Given the description of an element on the screen output the (x, y) to click on. 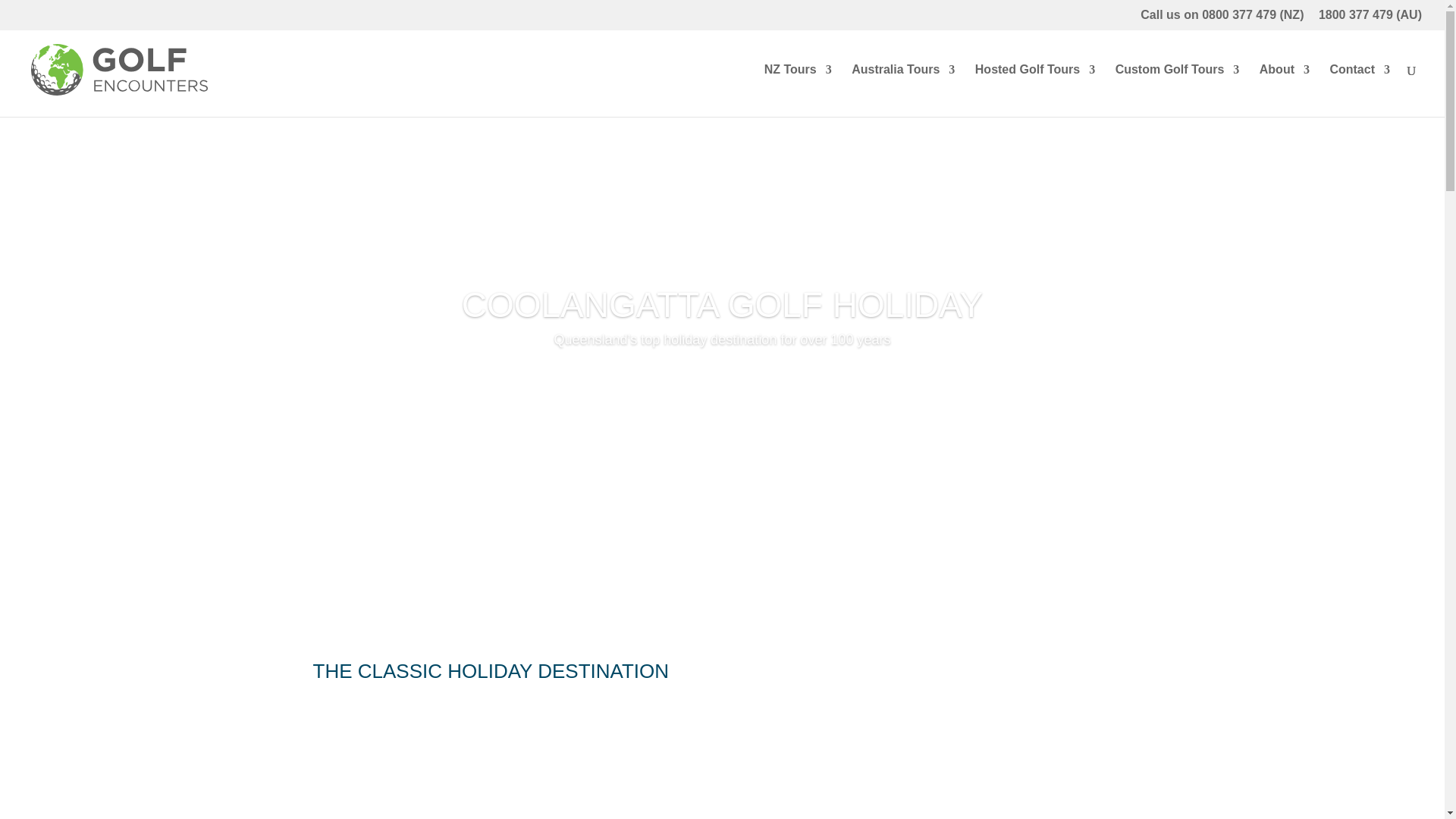
Contact (1359, 90)
BOOK NOW (722, 431)
NZ Tours (797, 90)
COOLANGATTA GOLF HOLIDAY (722, 355)
About (1283, 90)
Hosted Golf Tours (1034, 90)
Custom Golf Tours (1177, 90)
Australia Tours (903, 90)
